Given the description of an element on the screen output the (x, y) to click on. 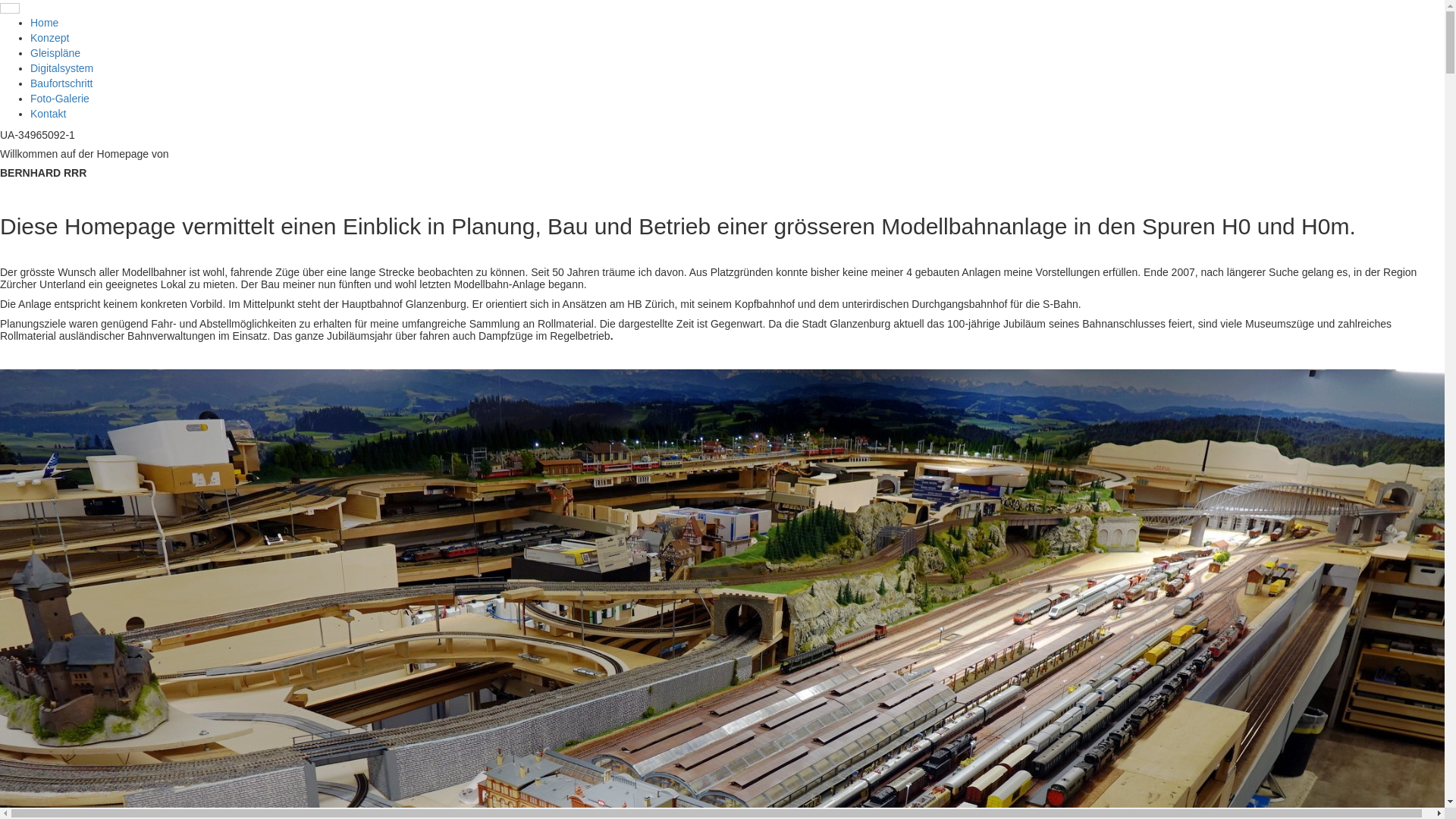
Baufortschritt Element type: text (61, 83)
Konzept Element type: text (49, 37)
Foto-Galerie Element type: text (59, 98)
Kontakt Element type: text (47, 113)
Digitalsystem Element type: text (61, 68)
Home Element type: text (44, 22)
